Given the description of an element on the screen output the (x, y) to click on. 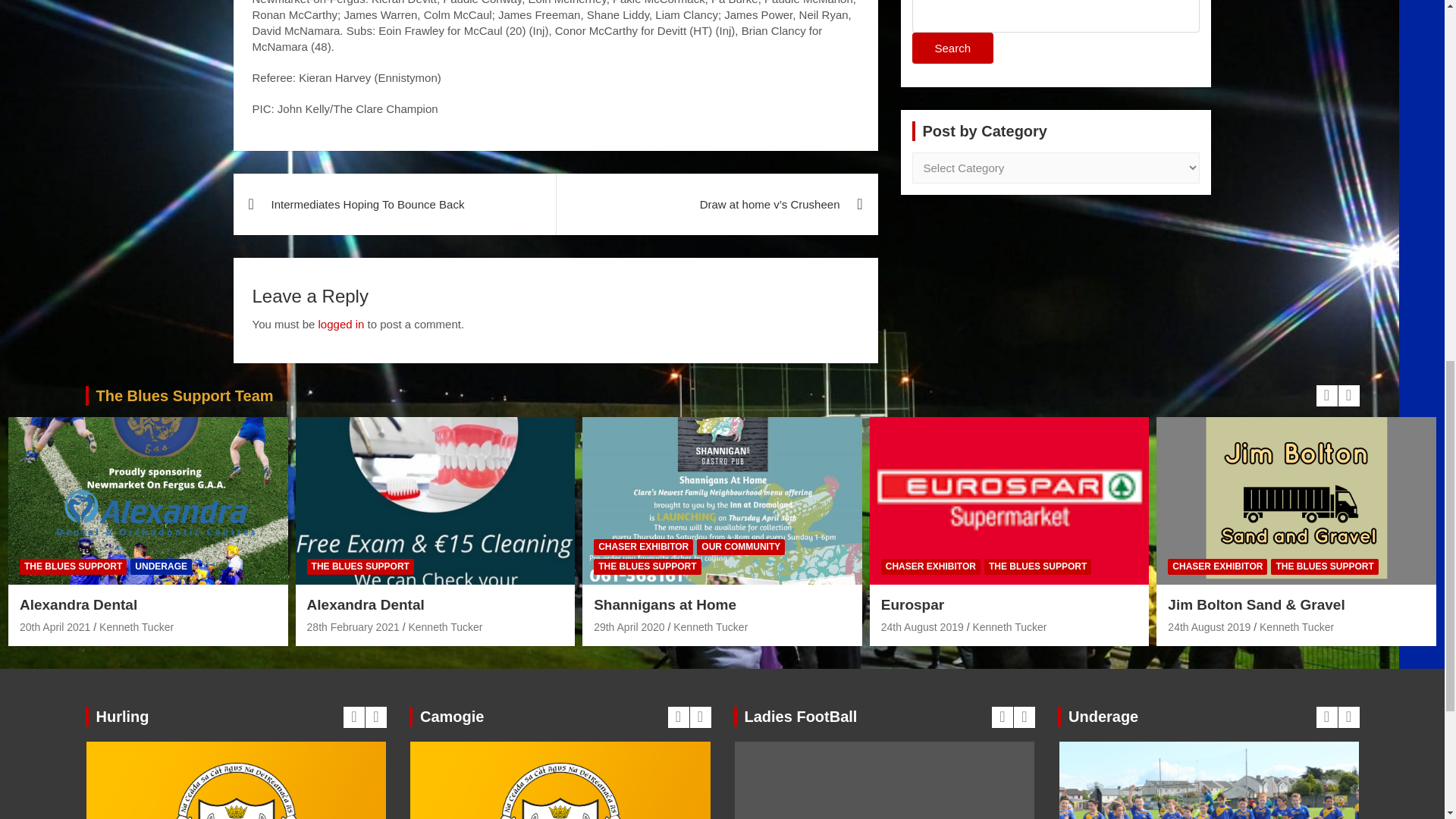
Intermediates Hoping To Bounce Back (394, 204)
Search (951, 47)
Search (951, 47)
Alexandra Dental (352, 626)
logged in (341, 323)
Alexandra Dental (55, 626)
Shannigans at Home (628, 626)
Eurospar (921, 626)
Search (951, 47)
